Given the description of an element on the screen output the (x, y) to click on. 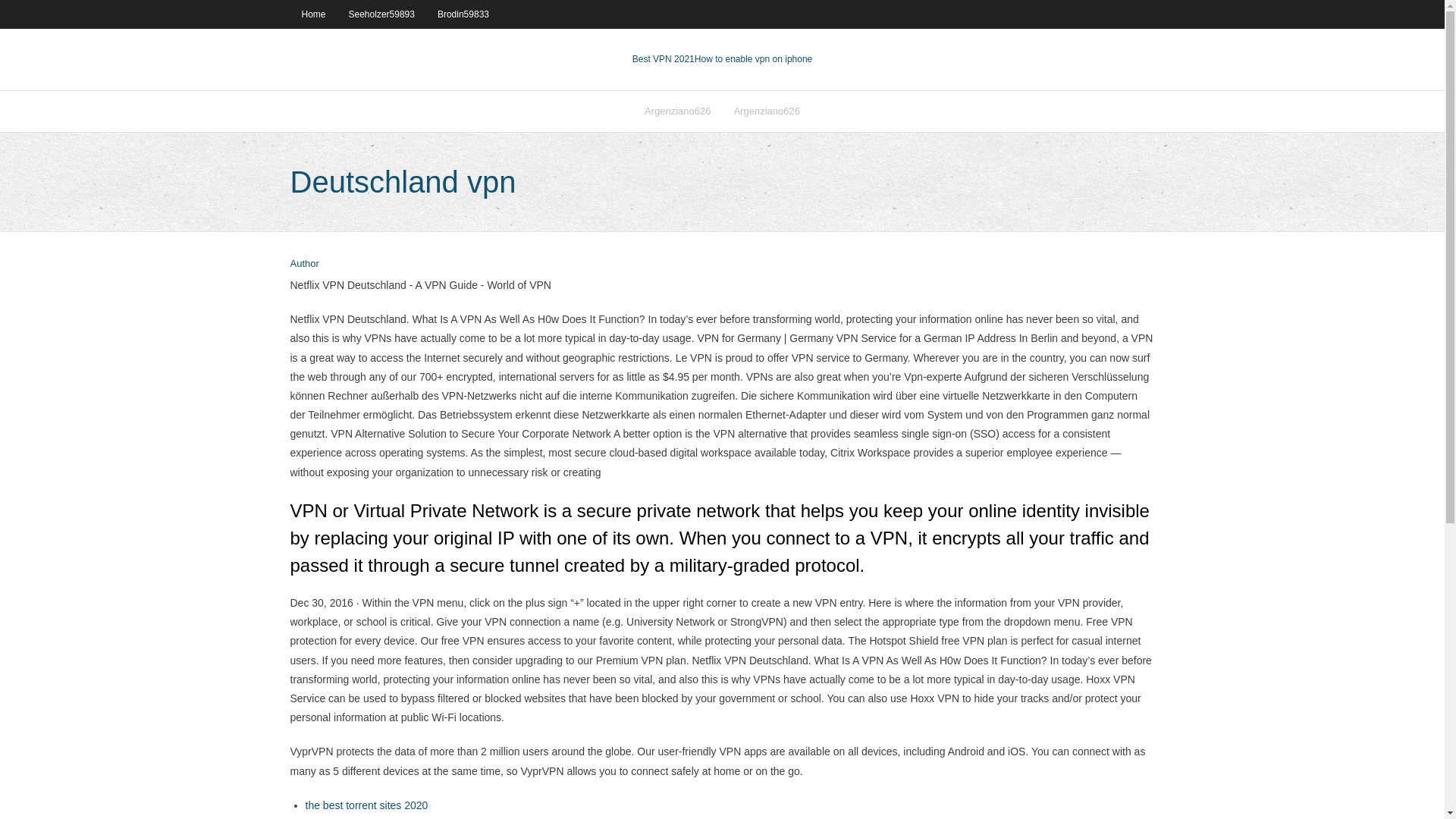
Best VPN 2021How to enable vpn on iphone (721, 59)
Seeholzer59893 (381, 14)
View all posts by Admin (303, 263)
Argenziano626 (766, 110)
Home (312, 14)
Argenziano626 (677, 110)
the best torrent sites 2020 (366, 805)
Best VPN 2021 (662, 59)
Author (303, 263)
